Given the description of an element on the screen output the (x, y) to click on. 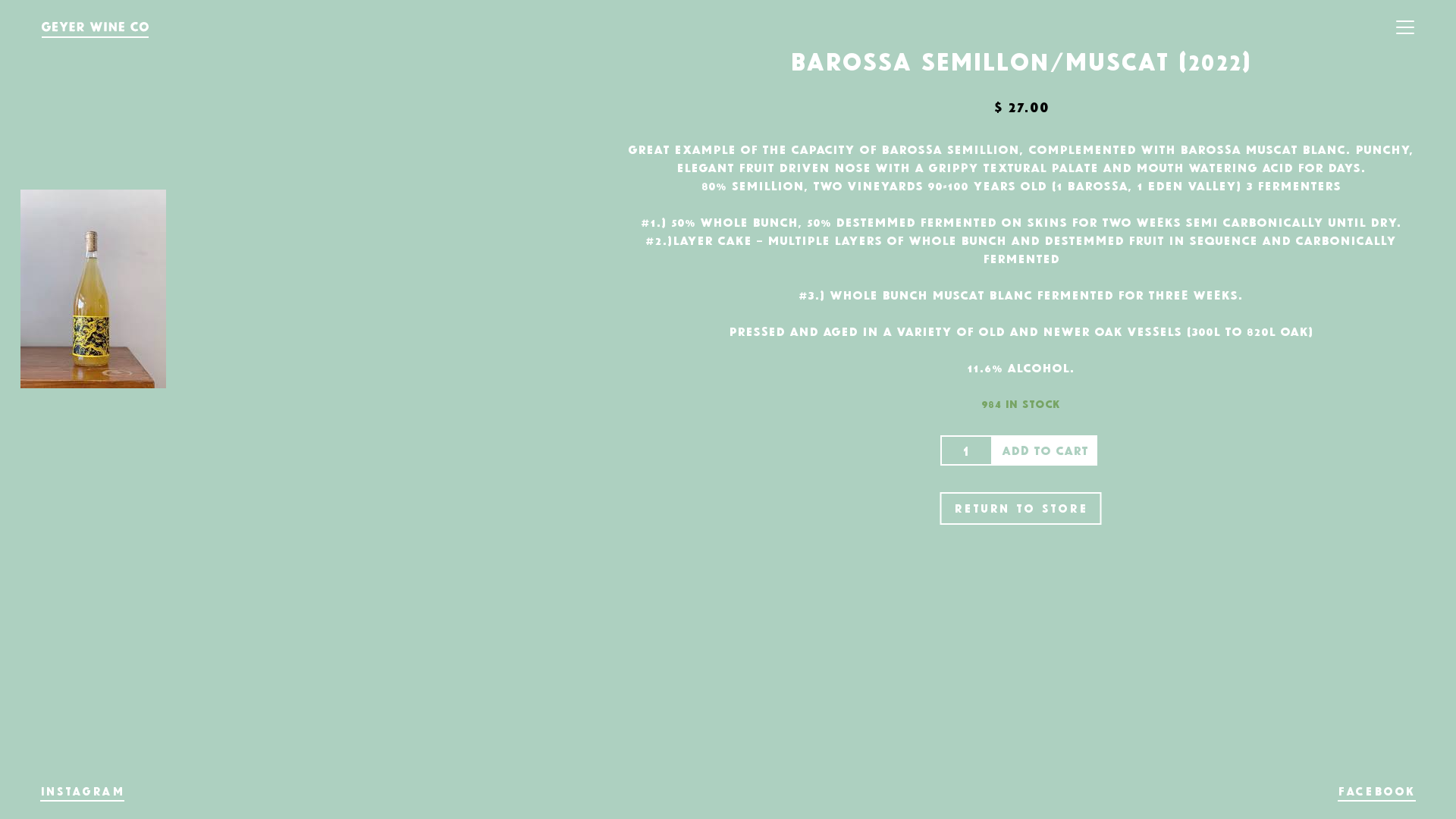
Primary Menu Element type: text (1404, 26)
Add to cart Element type: text (1044, 450)
Instagram Element type: text (82, 790)
Return to Store Element type: text (1020, 508)
Qty Element type: hover (966, 450)
Unknown Element type: hover (93, 288)
Skip to content Element type: text (0, 0)
Facebook Element type: text (1376, 790)
